Given the description of an element on the screen output the (x, y) to click on. 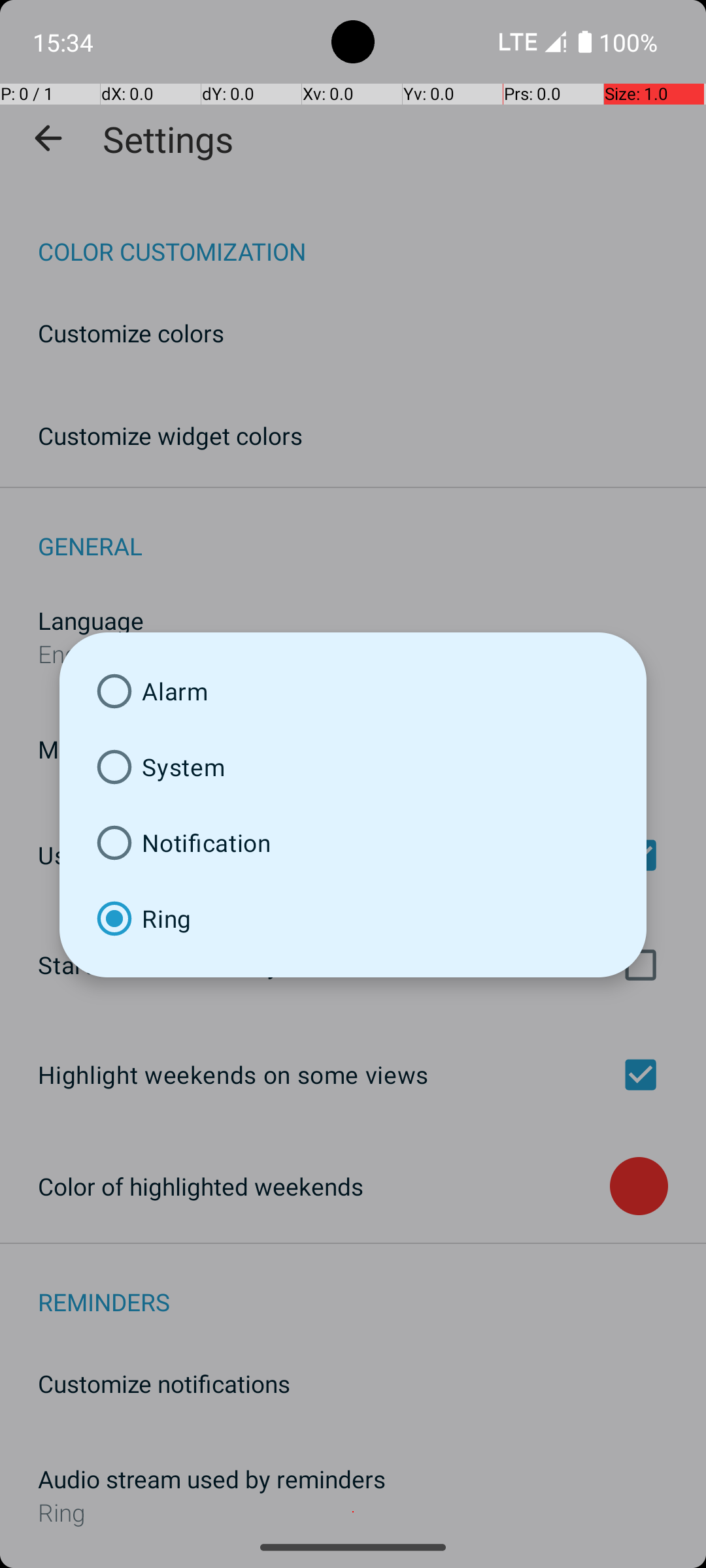
Ring Element type: android.widget.RadioButton (352, 918)
